Given the description of an element on the screen output the (x, y) to click on. 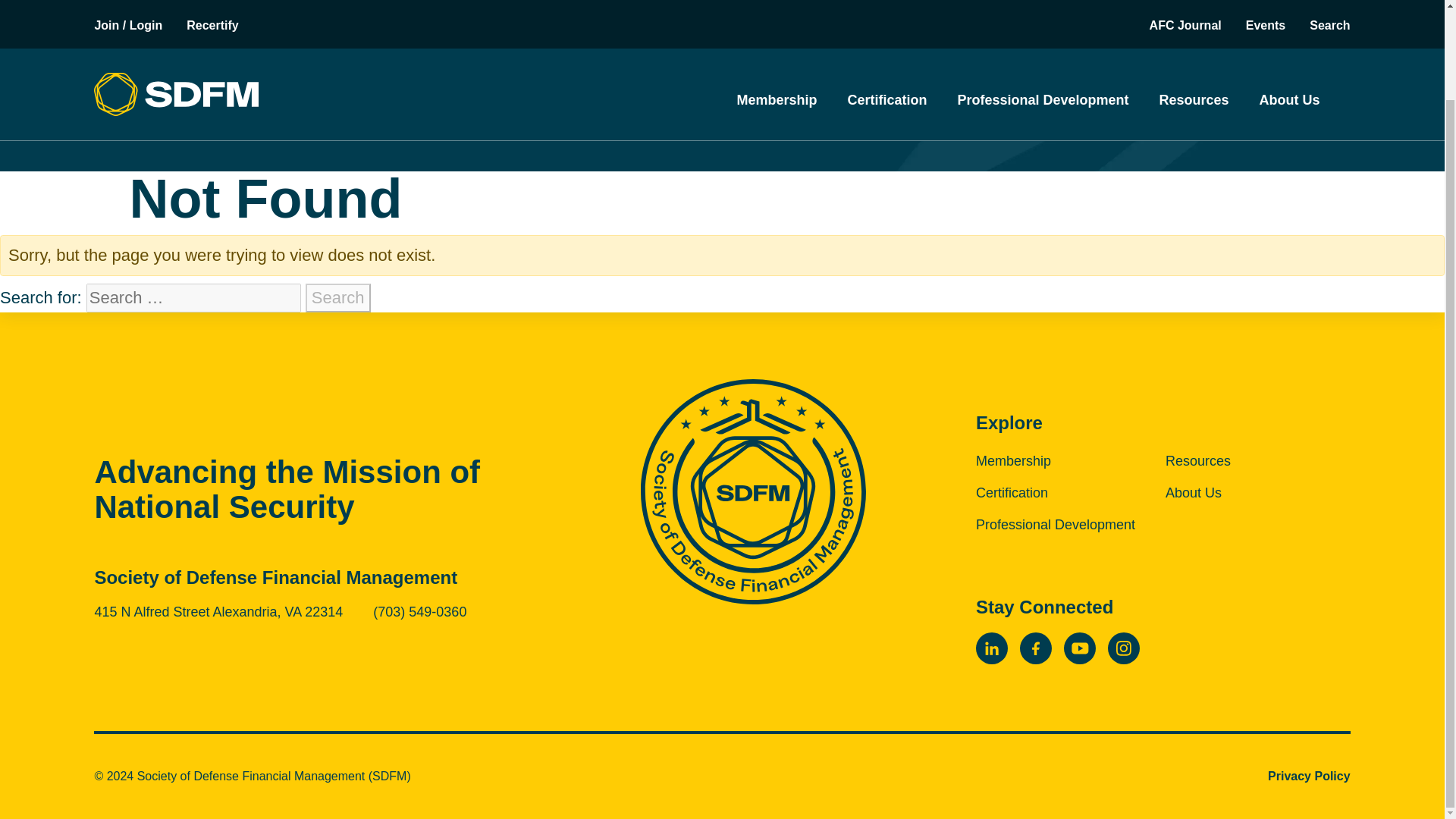
Membership (776, 2)
